Given the description of an element on the screen output the (x, y) to click on. 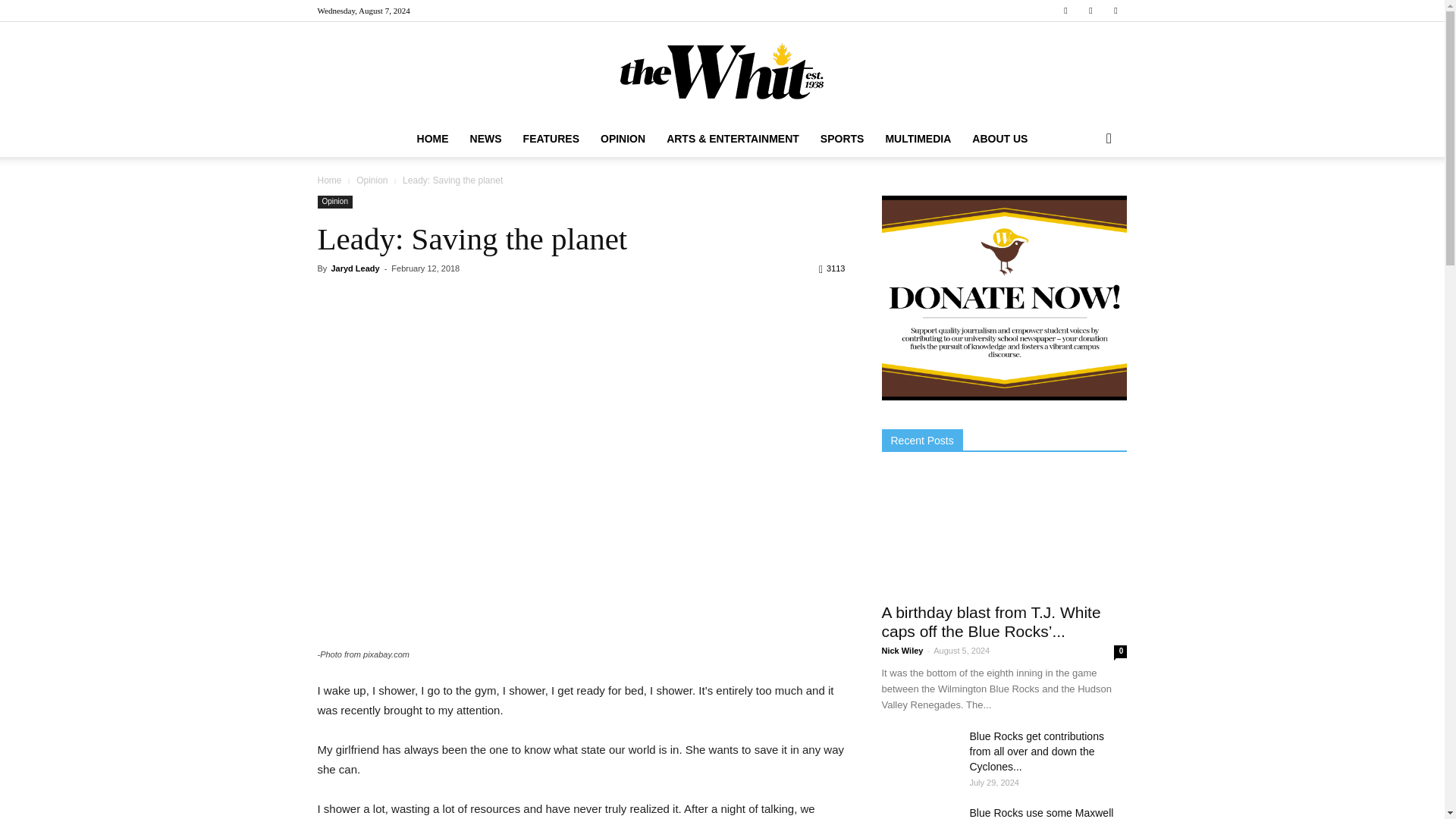
Facebook (1065, 10)
Twitter (1114, 10)
View all posts in Opinion (373, 180)
Instagram (1090, 10)
